Given the description of an element on the screen output the (x, y) to click on. 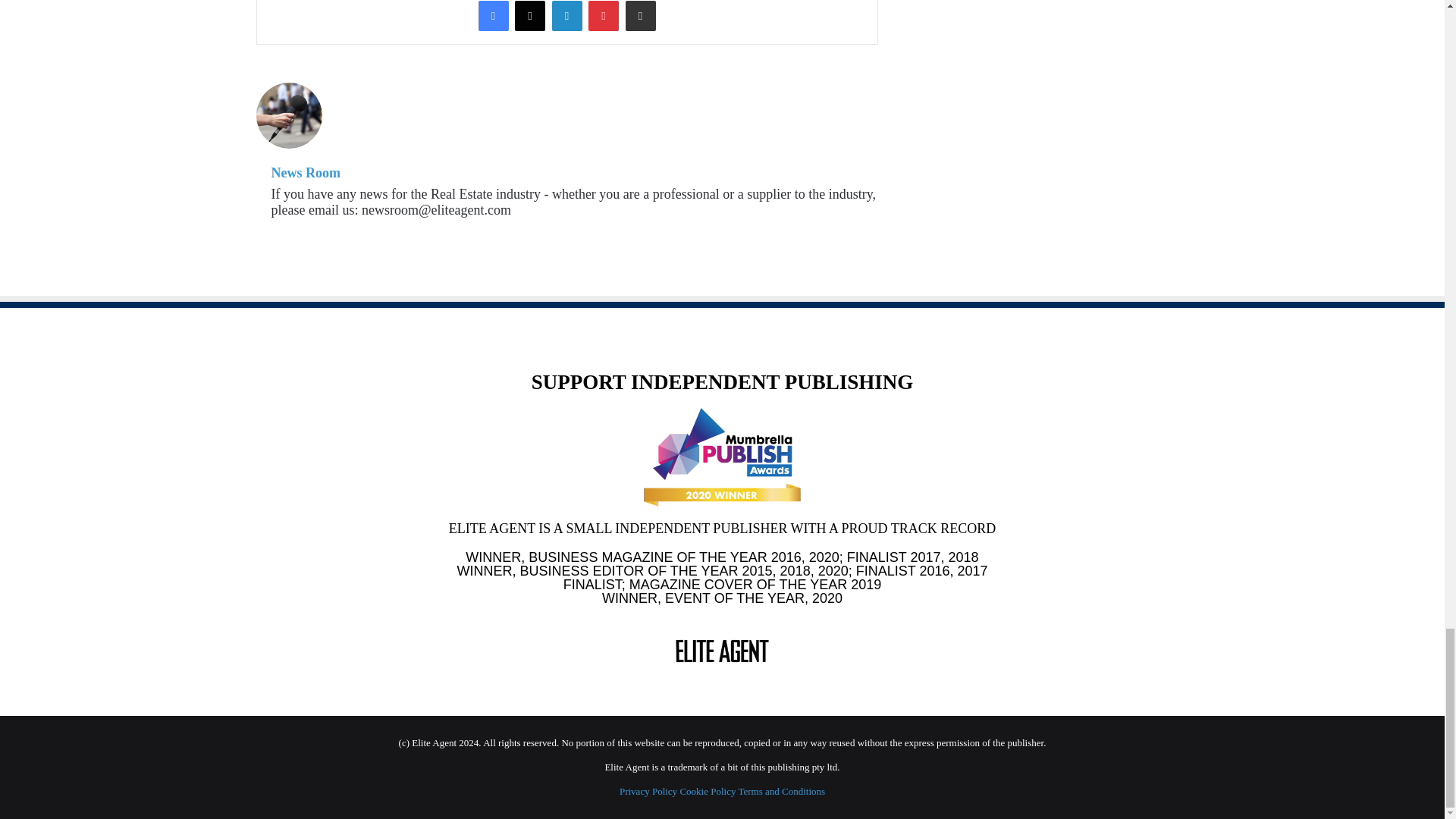
Facebook (492, 15)
